Given the description of an element on the screen output the (x, y) to click on. 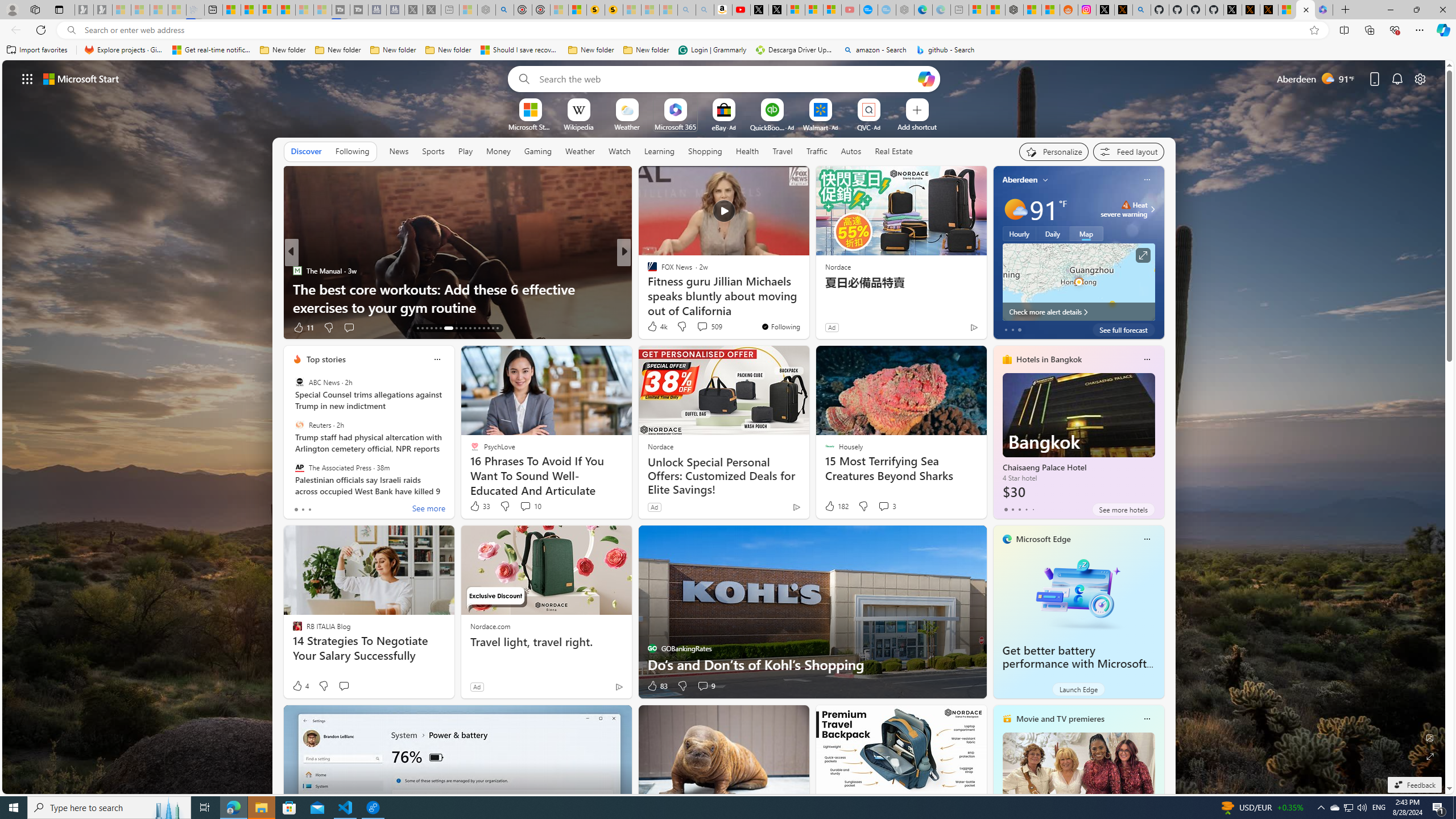
Nordace - Nordace has arrived Hong Kong - Sleeping (904, 9)
Irish Star (647, 270)
Click to see more information (1142, 255)
github - Search (945, 49)
Sports (432, 151)
Aberdeen (1019, 179)
Launch Edge (1078, 689)
View comments 10 Comment (525, 505)
83 Like (657, 685)
You're following FOX News (780, 326)
